Given the description of an element on the screen output the (x, y) to click on. 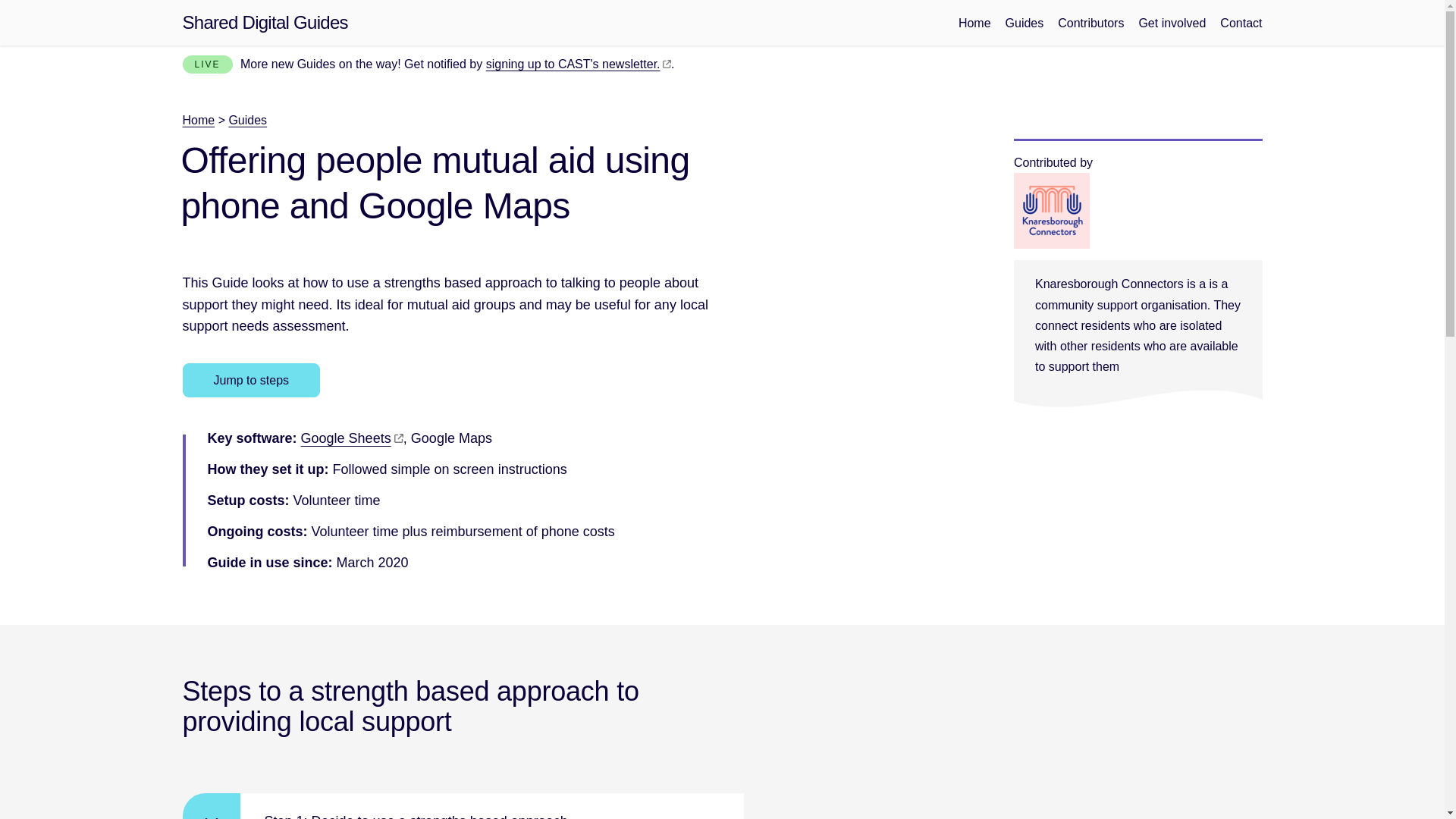
Shared Digital Guides (264, 22)
Get involved (1171, 22)
Guides (247, 119)
Contributors (1091, 22)
Guides (1024, 22)
Google Sheets (352, 437)
Contact (1241, 22)
Step 1: Decide to use a strengths based approach (462, 806)
Home (974, 22)
Home (198, 119)
Jump to steps (251, 380)
signing up to CAST's newsletter. (578, 63)
